Given the description of an element on the screen output the (x, y) to click on. 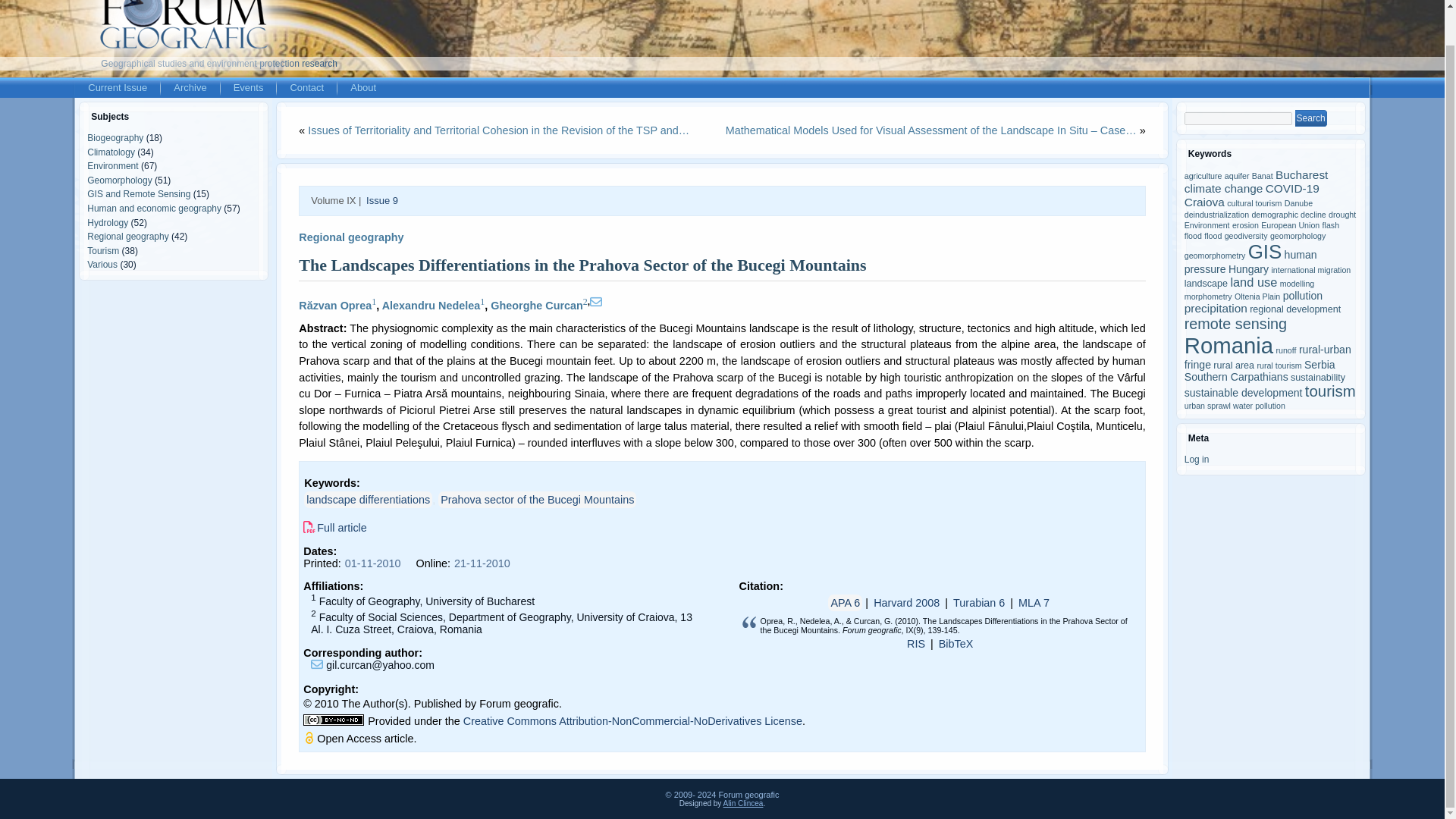
Search (1310, 117)
Issue 9 (382, 200)
Export as BibTeX (955, 643)
About (362, 87)
Gheorghe Curcan (536, 305)
Current Issue (117, 87)
Contact (306, 87)
Environment (112, 165)
Prahova sector of the Bucegi Mountains (537, 499)
